Given the description of an element on the screen output the (x, y) to click on. 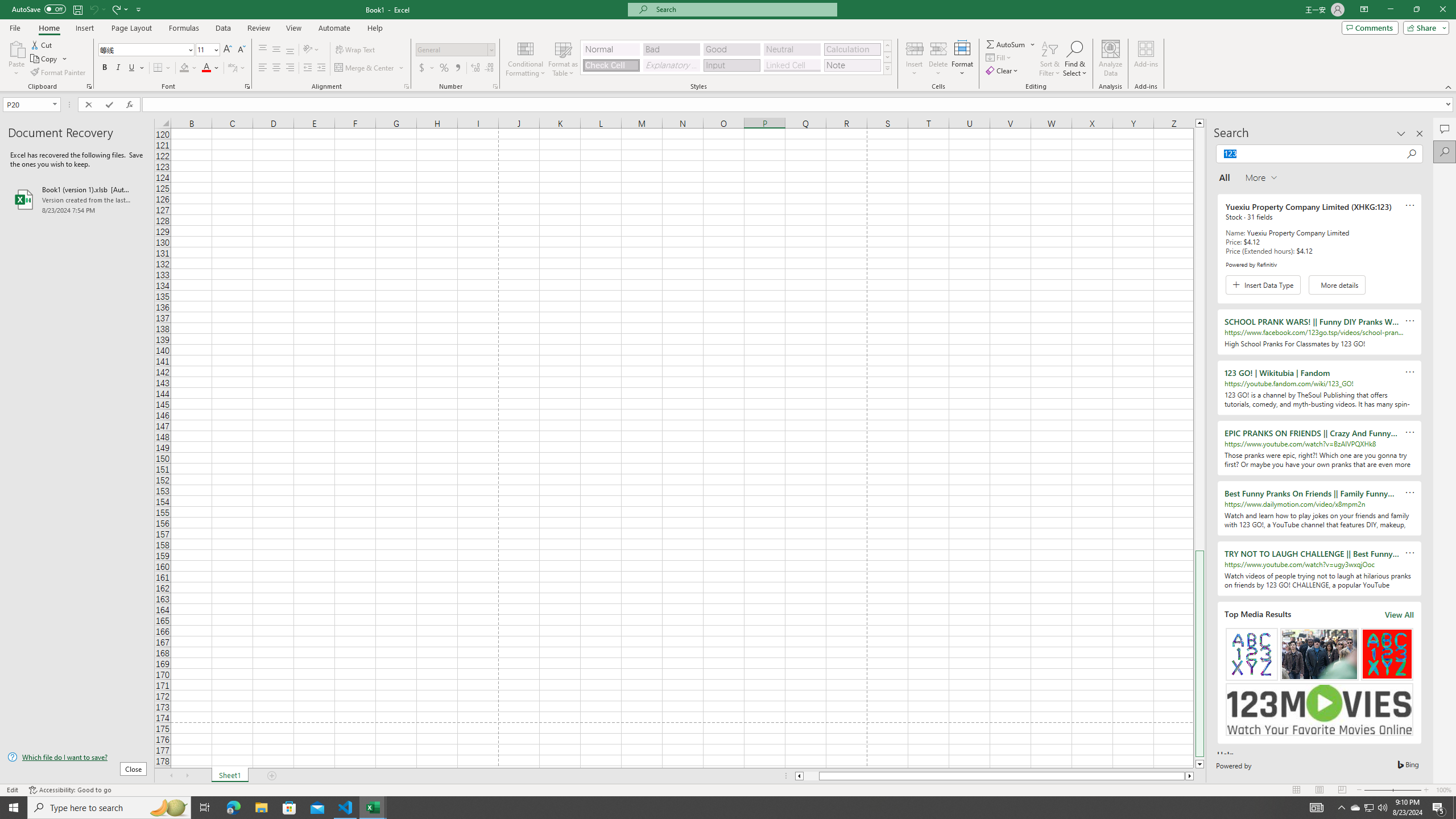
Format Cell Font (247, 85)
Font (142, 49)
Insert Cells (914, 48)
